Given the description of an element on the screen output the (x, y) to click on. 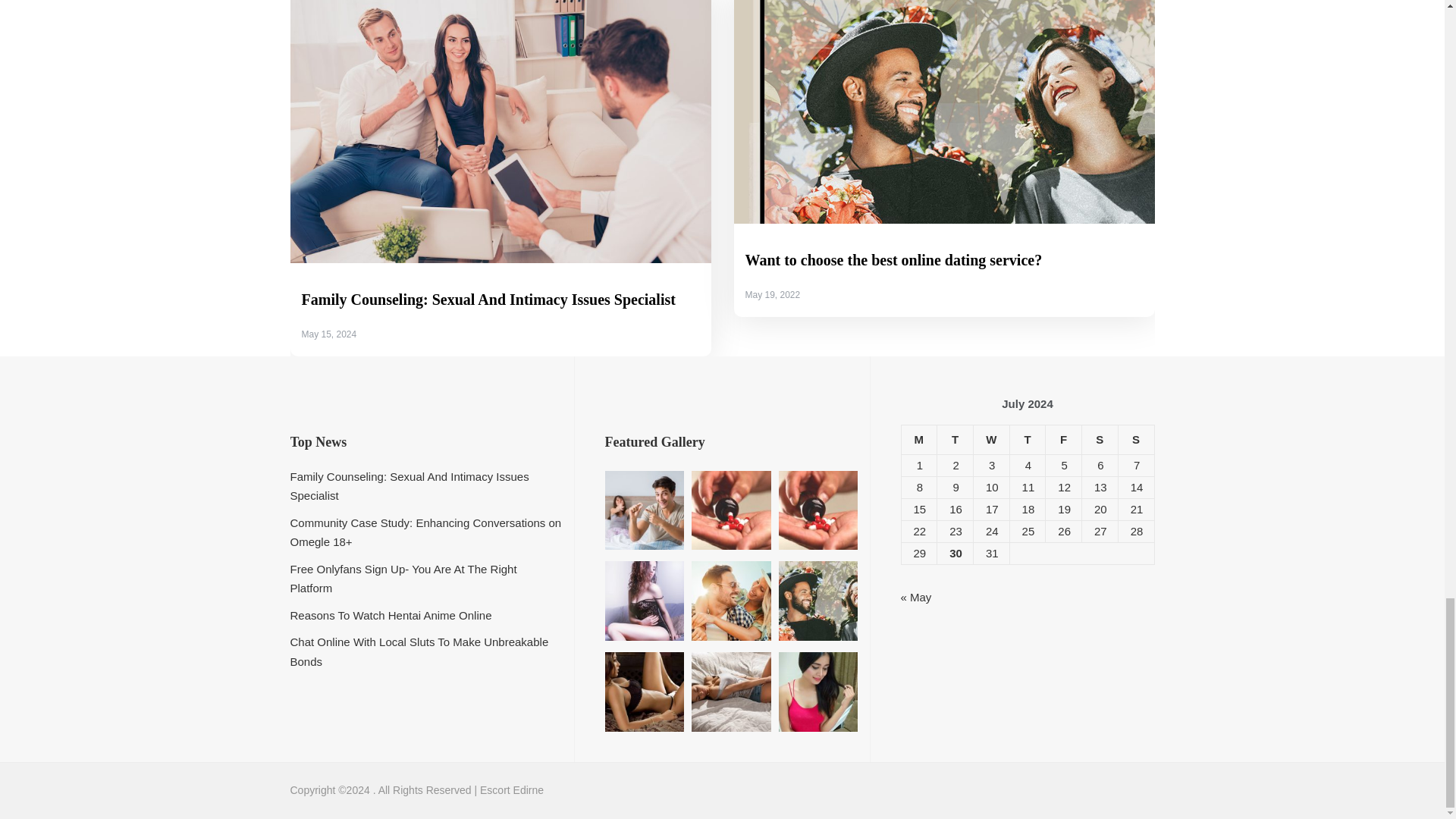
Friday (1063, 440)
Tuesday (955, 440)
Thursday (1027, 440)
Sunday (1136, 440)
Wednesday (990, 440)
Saturday (1099, 440)
Monday (919, 440)
